Given the description of an element on the screen output the (x, y) to click on. 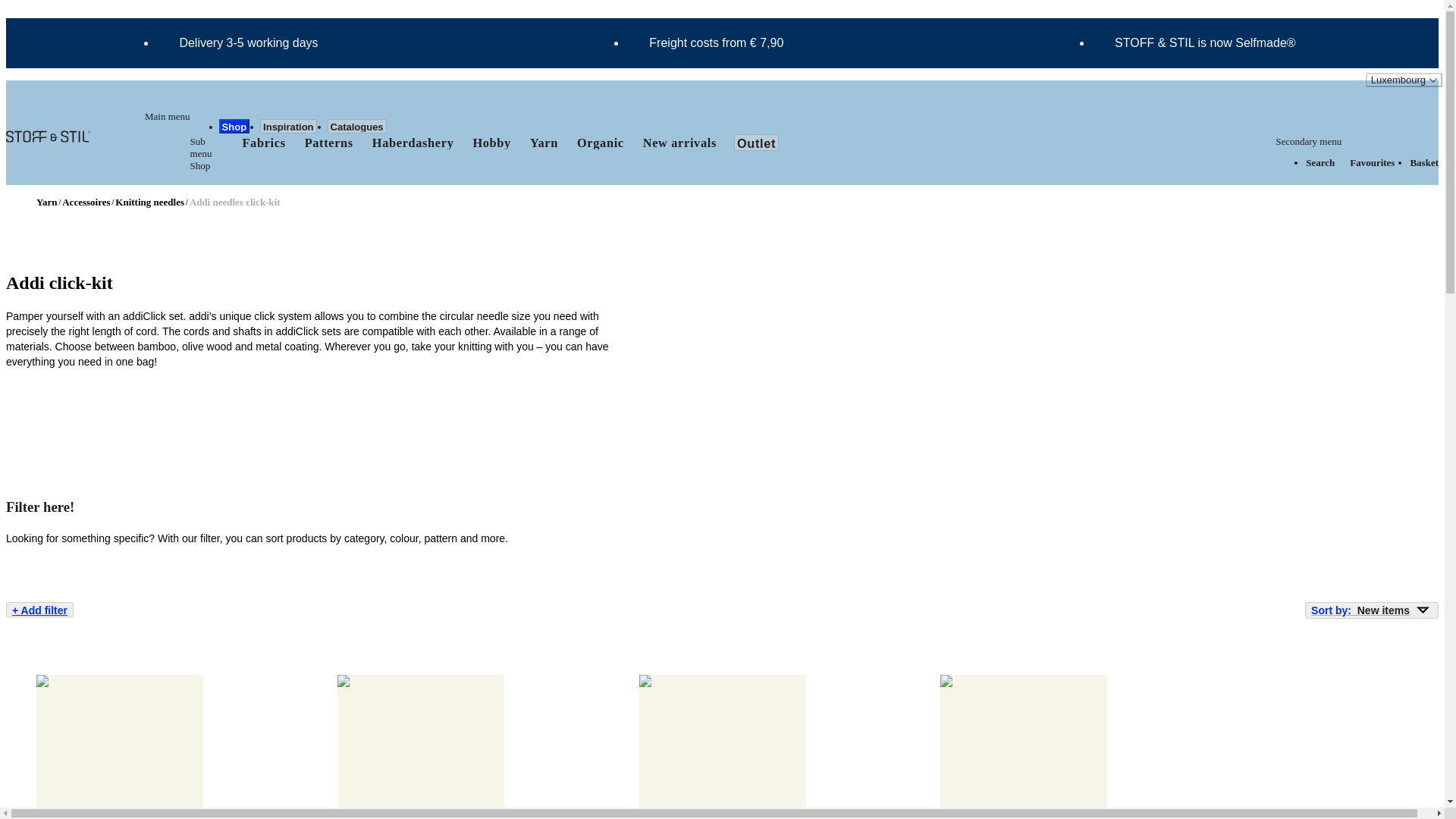
Fabrics (263, 142)
Outlet (755, 142)
Yarn (543, 142)
Catalogues (357, 125)
Organic (600, 142)
Haberdashery (413, 142)
Addi needles click-kit (234, 202)
Luxembourg (1403, 79)
Shop (234, 125)
Patterns (328, 142)
New arrivals (679, 142)
Accessoires (86, 202)
Hobby (491, 142)
Yarn (47, 202)
Favourites (1372, 161)
